Given the description of an element on the screen output the (x, y) to click on. 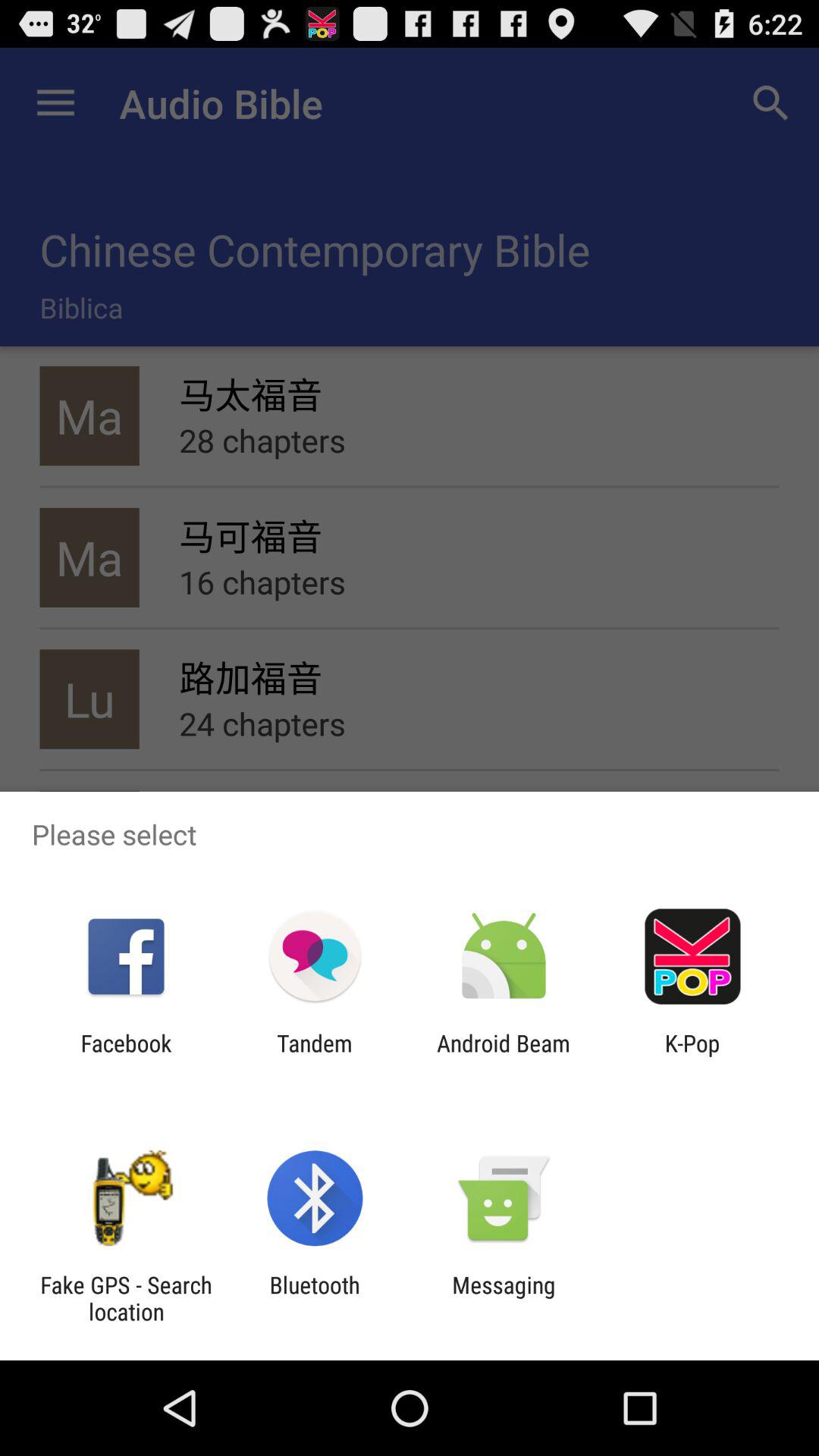
turn off icon to the right of the tandem app (503, 1056)
